Given the description of an element on the screen output the (x, y) to click on. 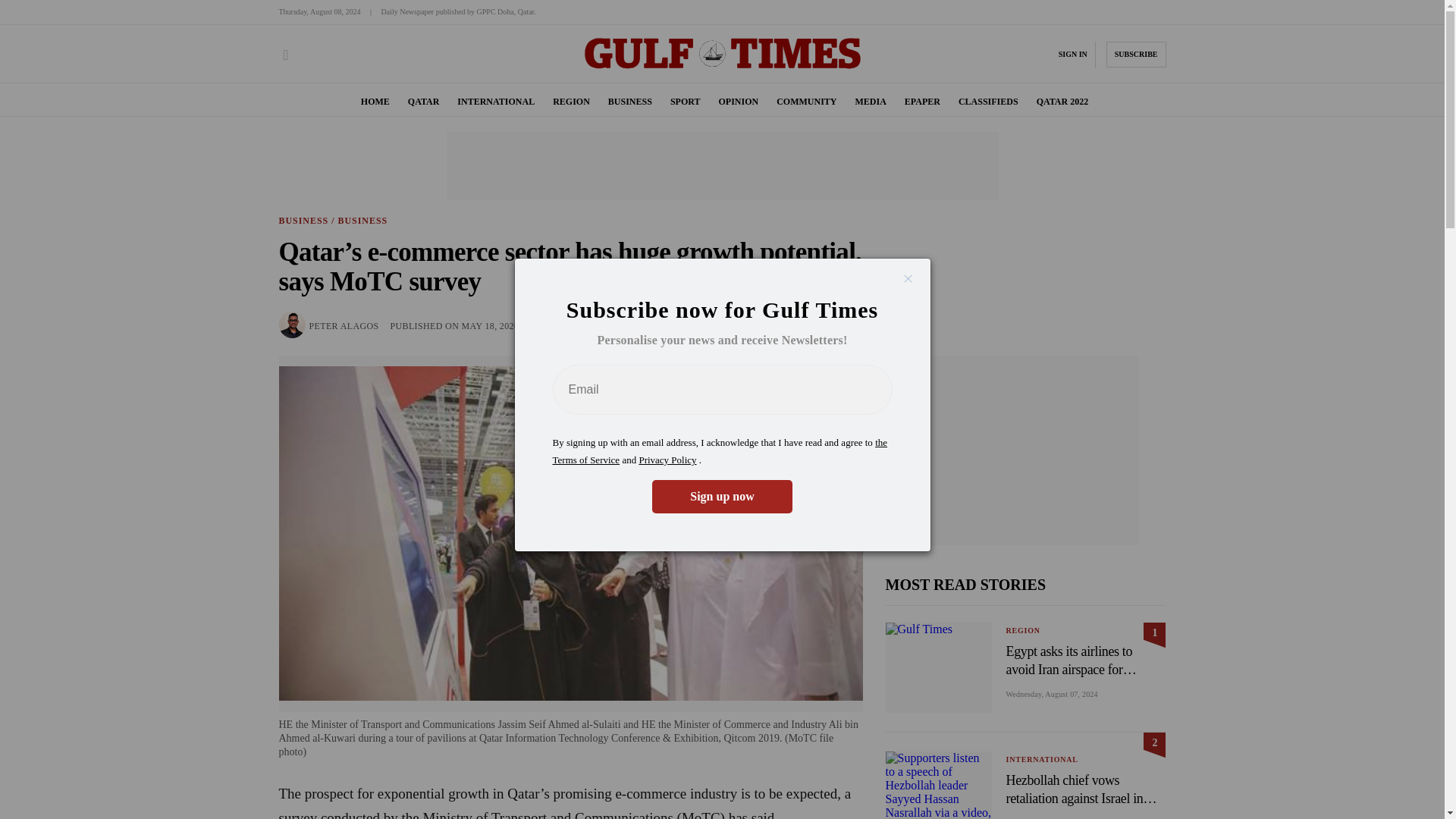
COMMUNITY (805, 101)
Qatar 2022 (1062, 101)
BUSINESS (630, 101)
SUBSCRIBE (1136, 54)
BUSINESS (630, 101)
INTERNATIONAL (495, 101)
MEDIA (869, 101)
Subscribe (1136, 54)
CLASSIFIEDS (987, 101)
Gulf Times (721, 67)
